Given the description of an element on the screen output the (x, y) to click on. 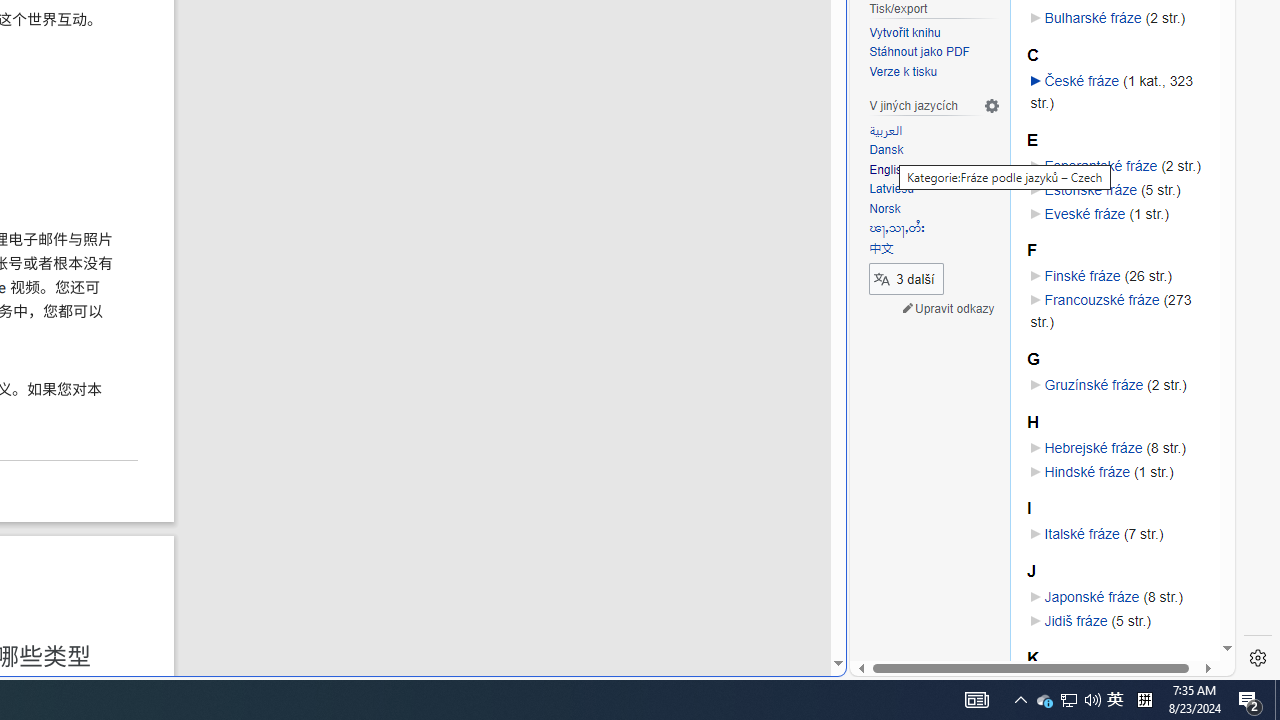
rozbalit (1035, 79)
English (934, 169)
Norsk (885, 208)
Dansk (934, 151)
